Given the description of an element on the screen output the (x, y) to click on. 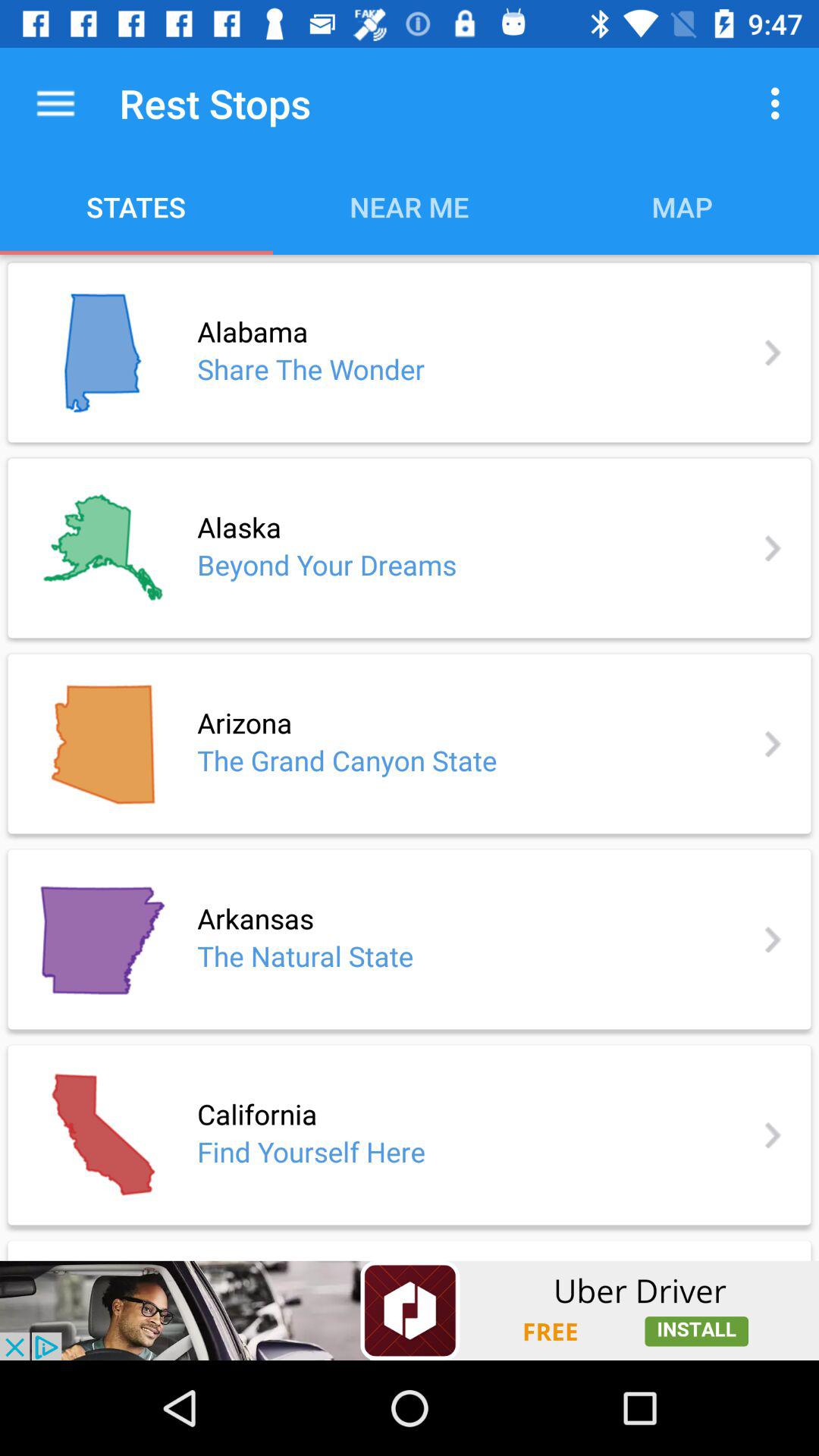
show outside advertisement (409, 1310)
